Given the description of an element on the screen output the (x, y) to click on. 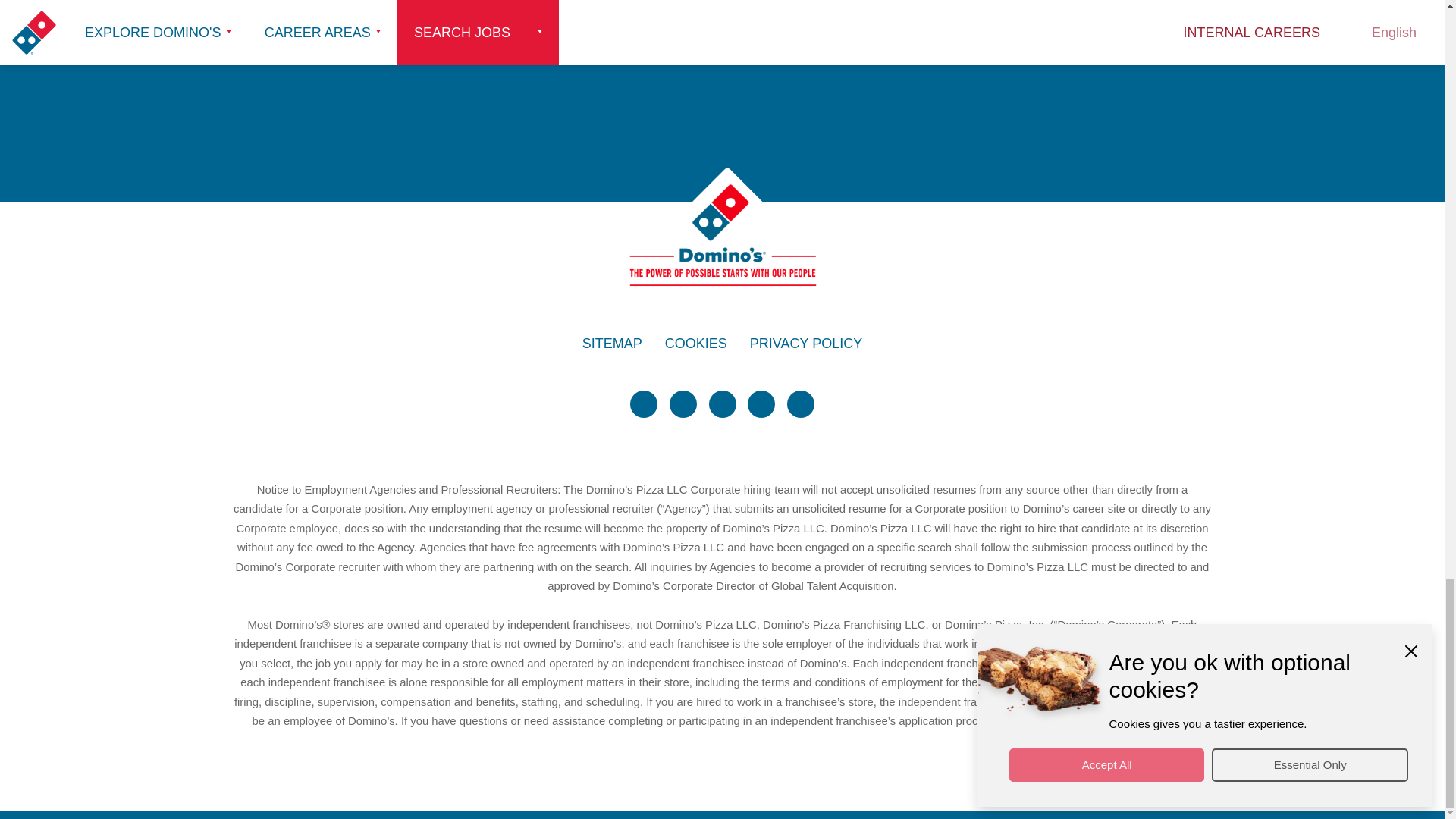
YouTube (761, 403)
Glassdoor (800, 403)
LinkedIn (721, 403)
Facebook (683, 403)
Twitter (644, 403)
